Given the description of an element on the screen output the (x, y) to click on. 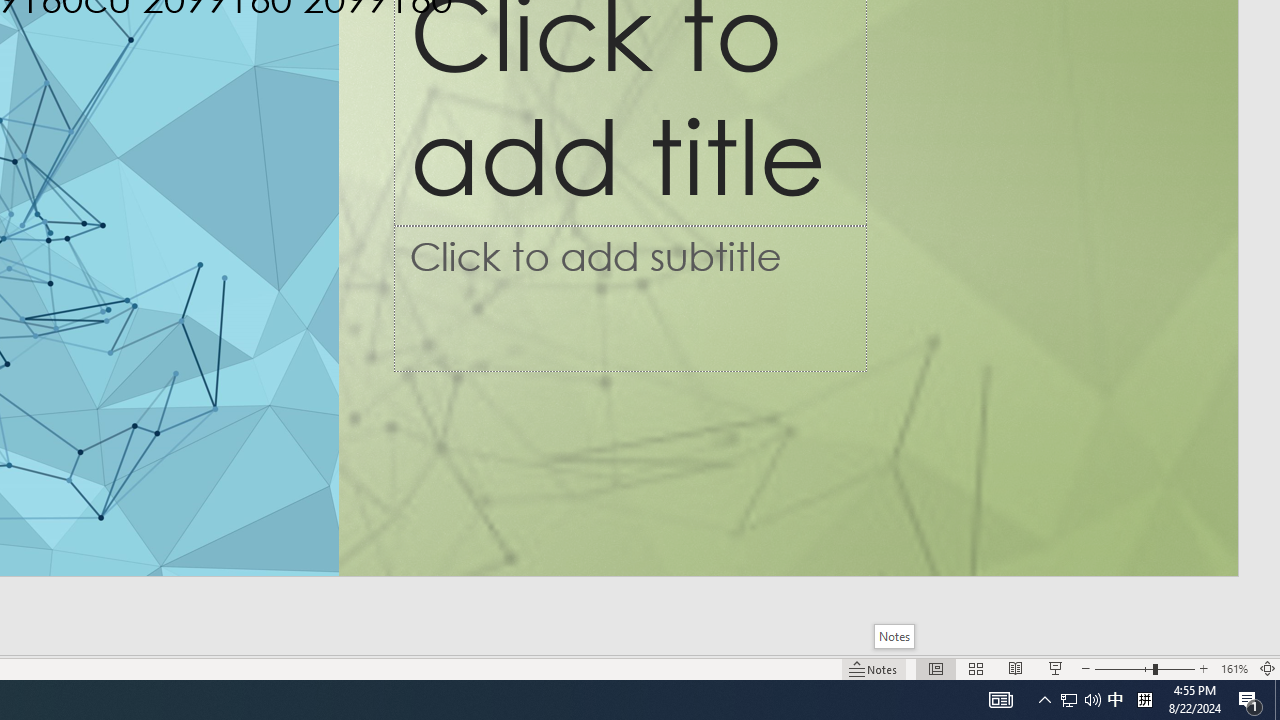
Zoom 161% (1234, 668)
Notes (894, 636)
